Given the description of an element on the screen output the (x, y) to click on. 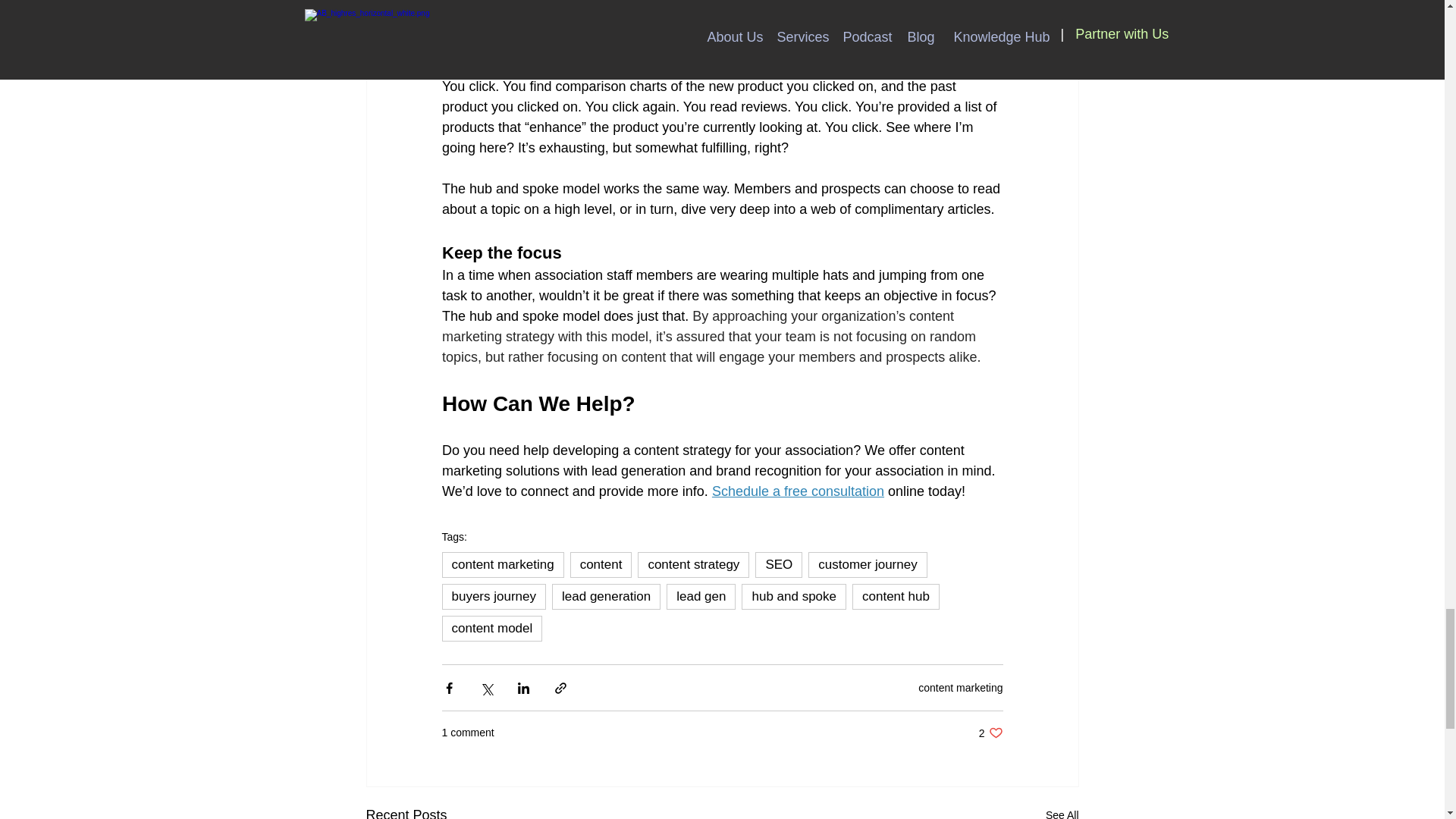
customer journey (867, 565)
Schedule a free consultation (797, 491)
content model (491, 628)
lead gen (700, 596)
content strategy (693, 565)
hub and spoke (793, 596)
See All (1061, 811)
buyers journey (493, 596)
content marketing (960, 687)
content hub (895, 596)
content marketing (502, 565)
content (600, 565)
SEO (990, 732)
lead generation (778, 565)
